Given the description of an element on the screen output the (x, y) to click on. 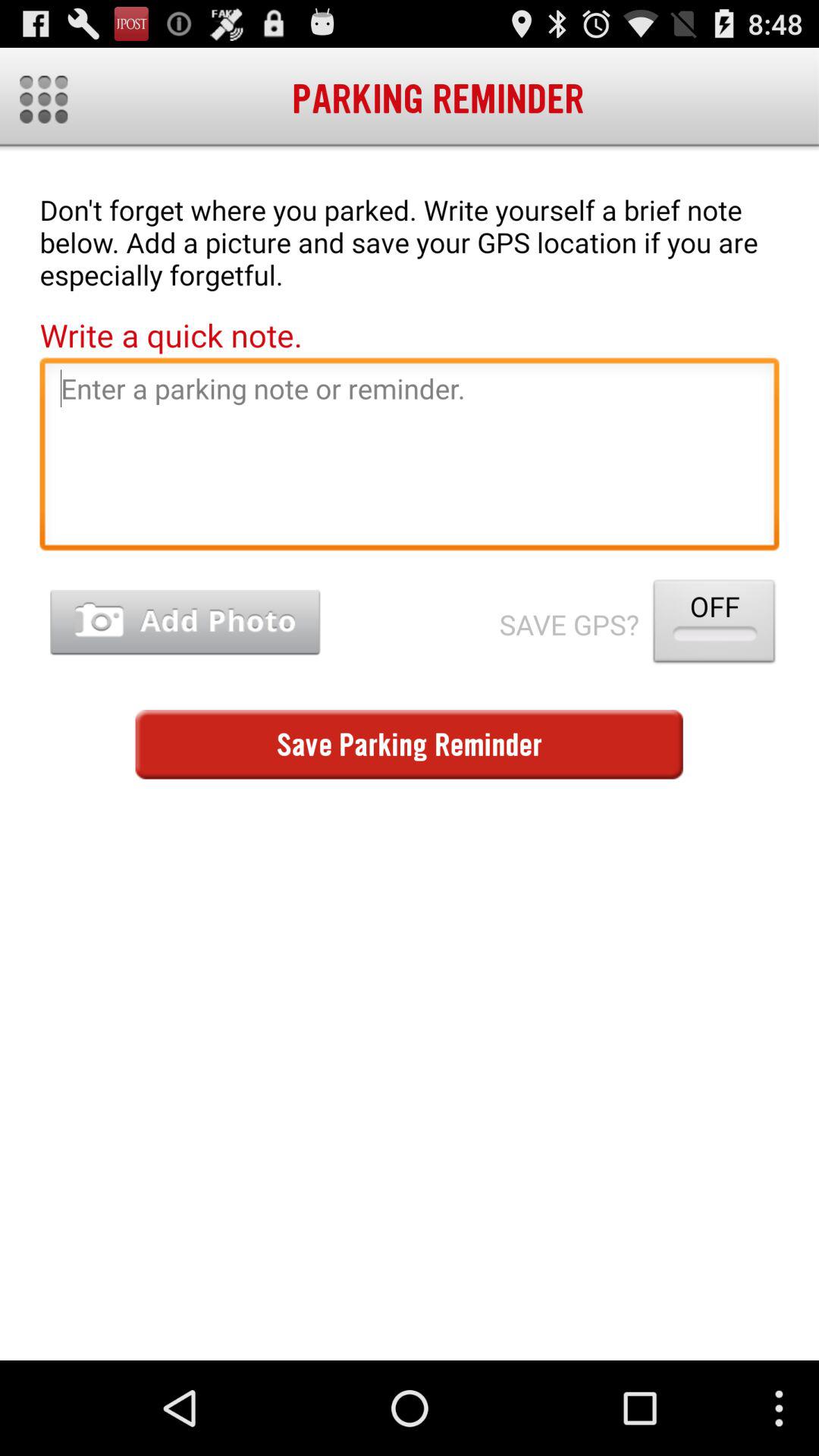
jump to the off icon (714, 624)
